Given the description of an element on the screen output the (x, y) to click on. 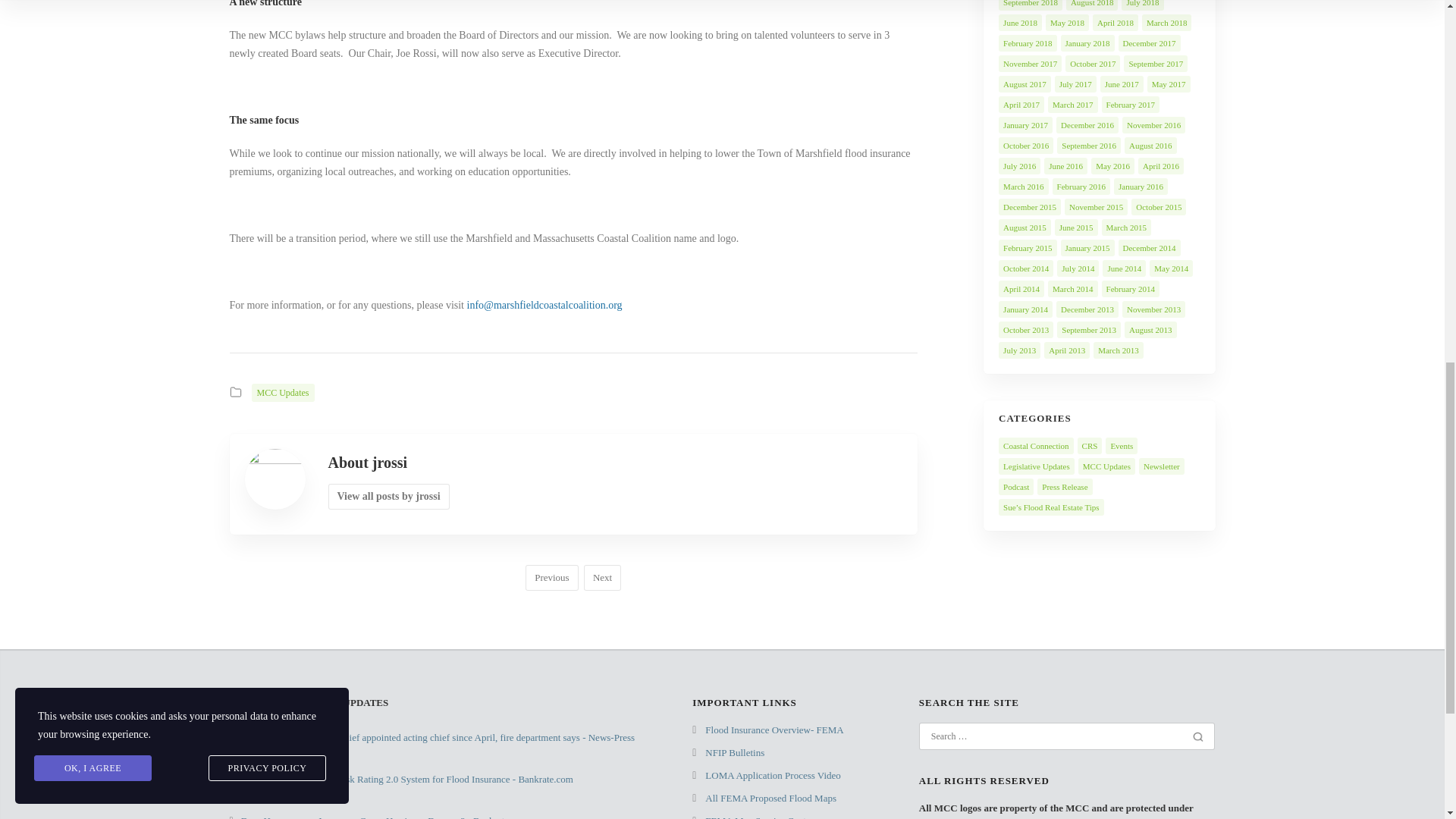
Search (1197, 736)
Search (1197, 736)
Search for: (1056, 736)
